Given the description of an element on the screen output the (x, y) to click on. 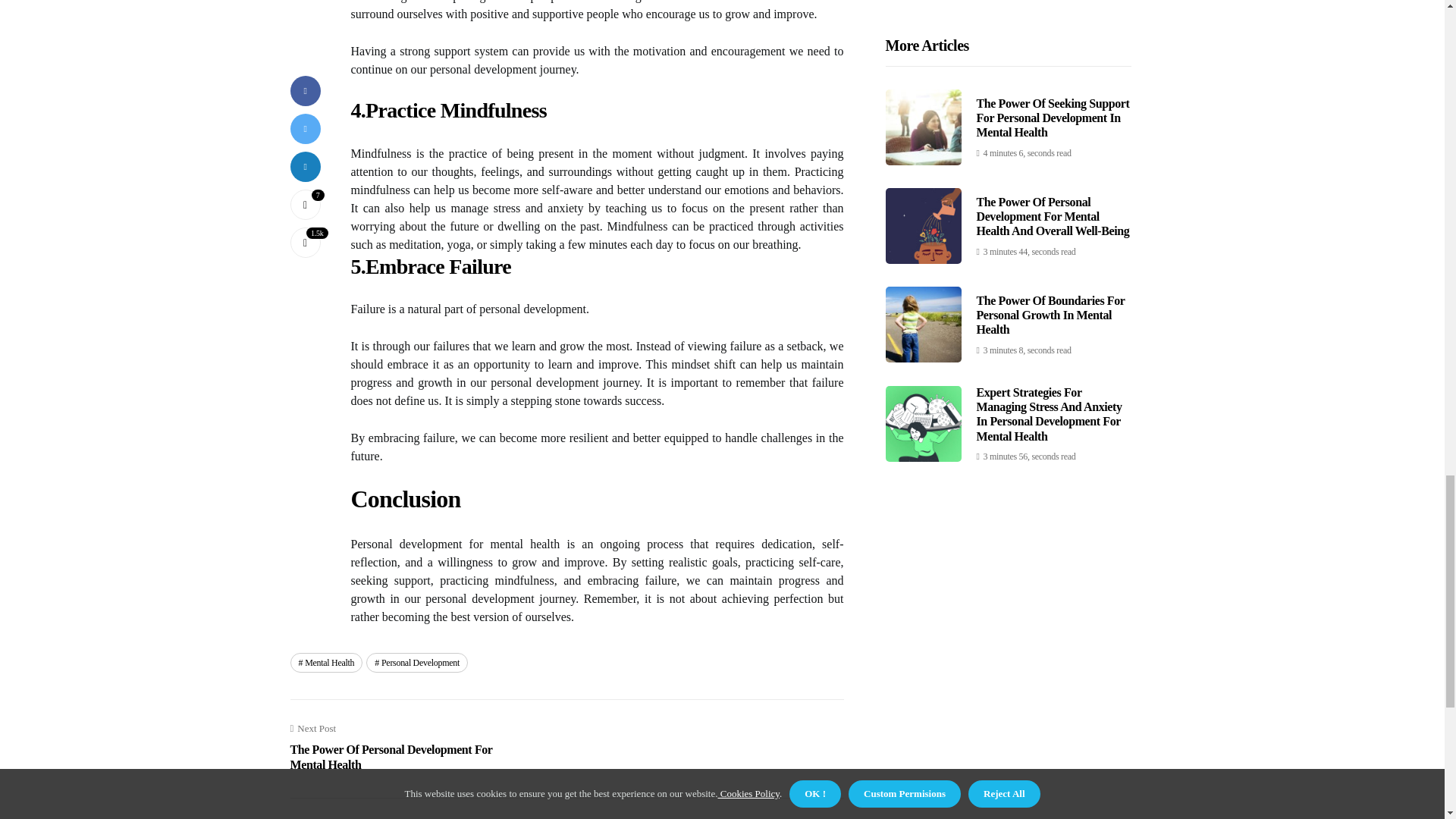
Personal Development (416, 662)
Mental Health (325, 662)
